Given the description of an element on the screen output the (x, y) to click on. 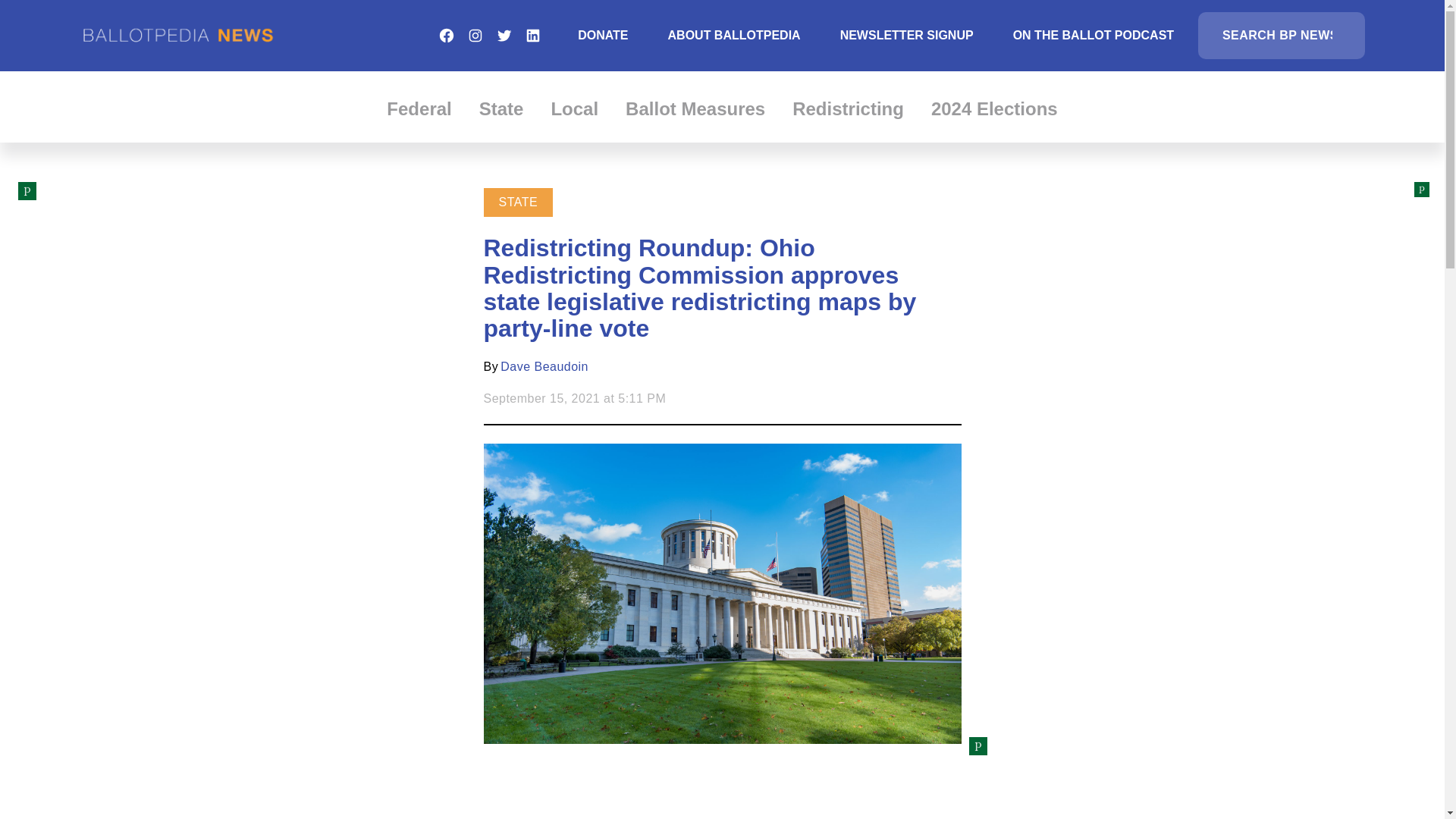
Dave Beaudoin (544, 366)
ON THE BALLOT PODCAST (1093, 35)
Instagram (475, 35)
State (501, 108)
Twitter (504, 35)
Ballot Measures (695, 108)
2024 Elections (994, 108)
Federal (419, 108)
LinkedIn (532, 35)
3rd party ad content (721, 777)
Local (574, 108)
Facebook (446, 35)
DONATE (602, 35)
NEWSLETTER SIGNUP (906, 35)
ABOUT BALLOTPEDIA (734, 35)
